Given the description of an element on the screen output the (x, y) to click on. 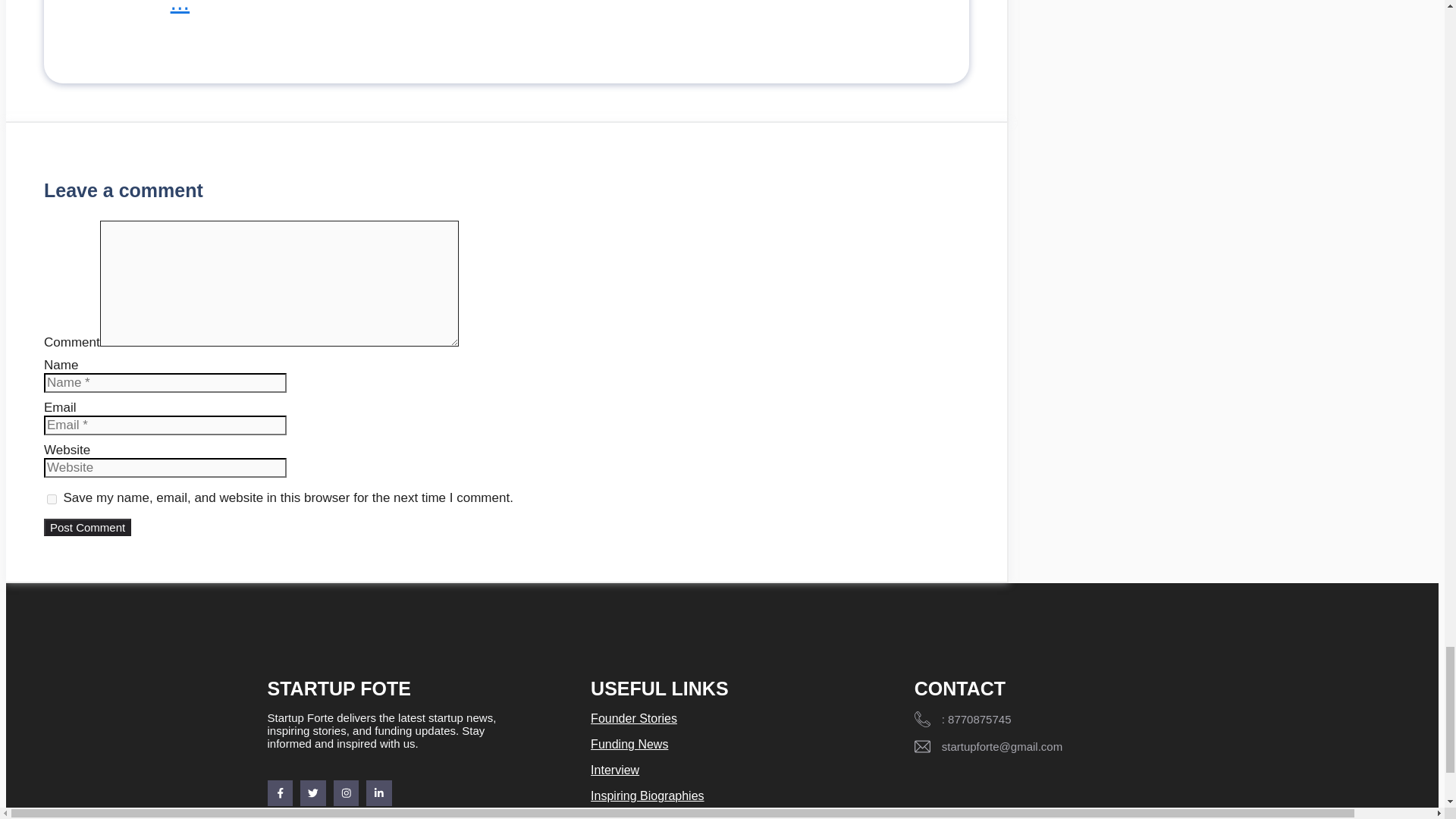
Funding News (629, 744)
Post Comment (87, 527)
yes (51, 499)
Interview (615, 769)
Inspiring Biographies (647, 795)
Founder Stories (634, 717)
Post Comment (87, 527)
